Given the description of an element on the screen output the (x, y) to click on. 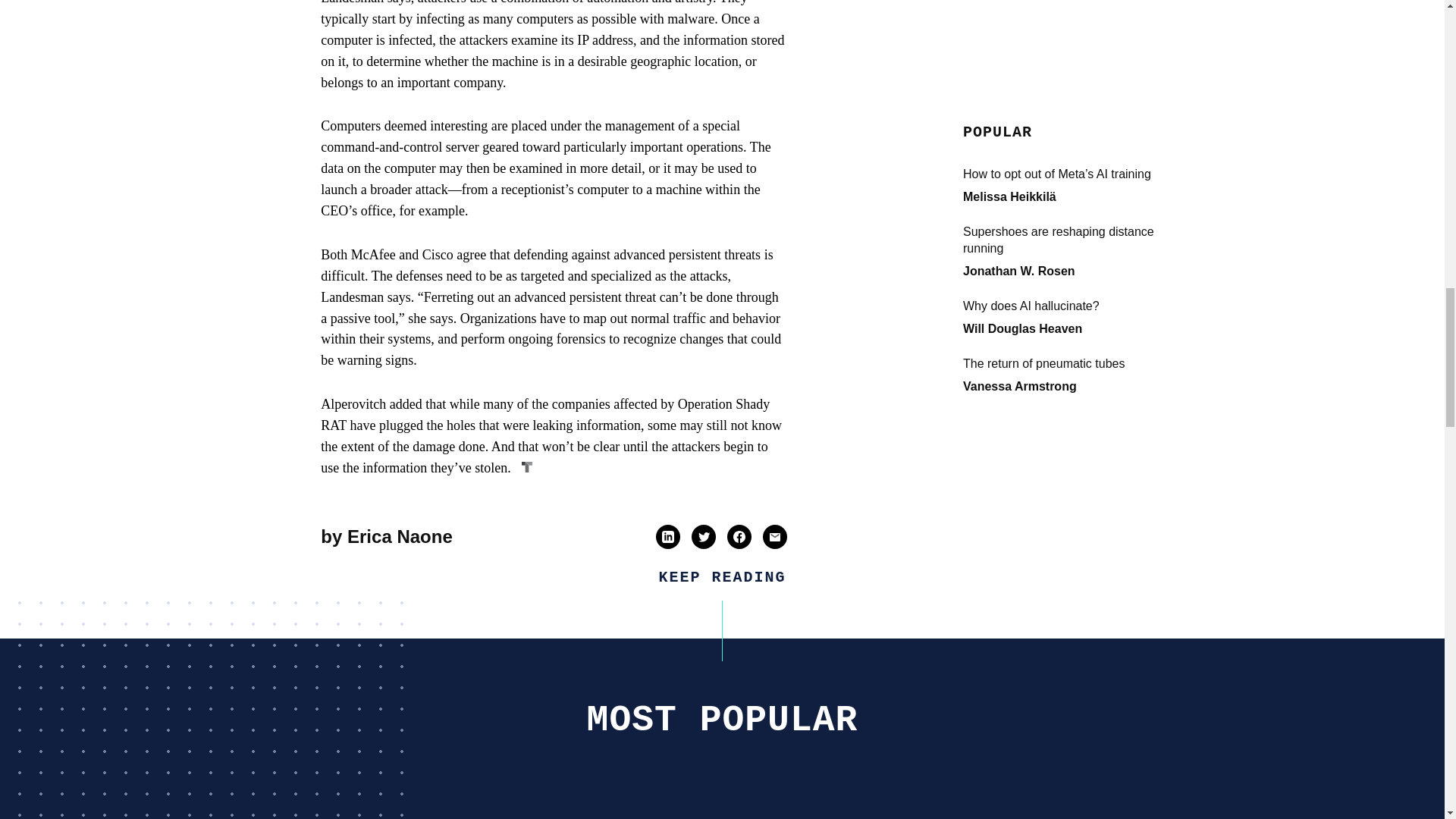
Share story on facebook (739, 536)
Erica Naone (399, 536)
Share story on twitter (703, 536)
Share story on email (774, 536)
Share story on linkedin (668, 536)
